Given the description of an element on the screen output the (x, y) to click on. 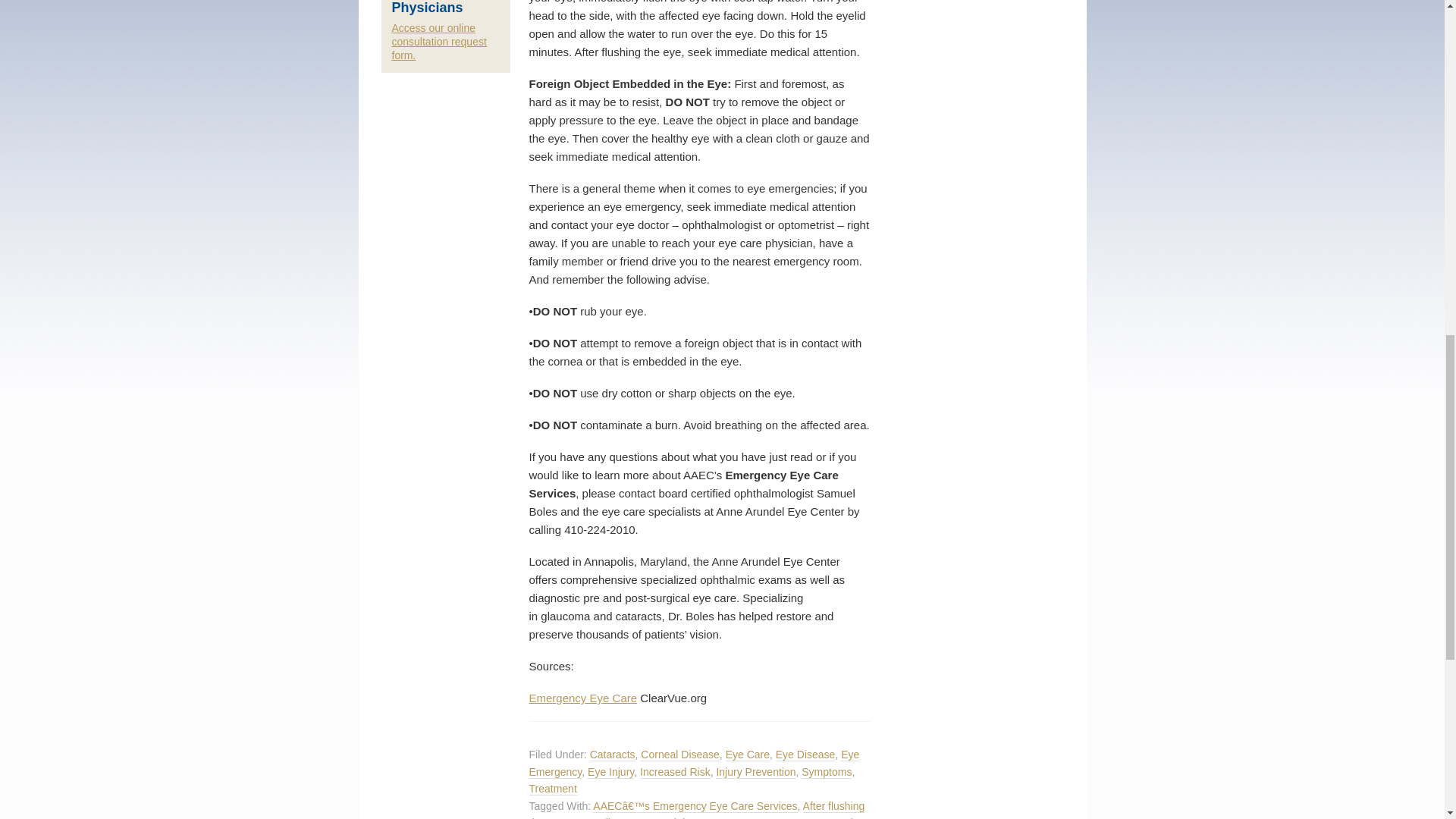
Eye Injury (610, 771)
Eye Disease (805, 754)
Cataracts (611, 754)
Emergency Eye Care (583, 697)
Injury Prevention (755, 771)
Treatment (552, 788)
Corneal Disease (679, 754)
Annapolis (592, 817)
Eye Care (747, 754)
Eye Emergency (694, 763)
